Given the description of an element on the screen output the (x, y) to click on. 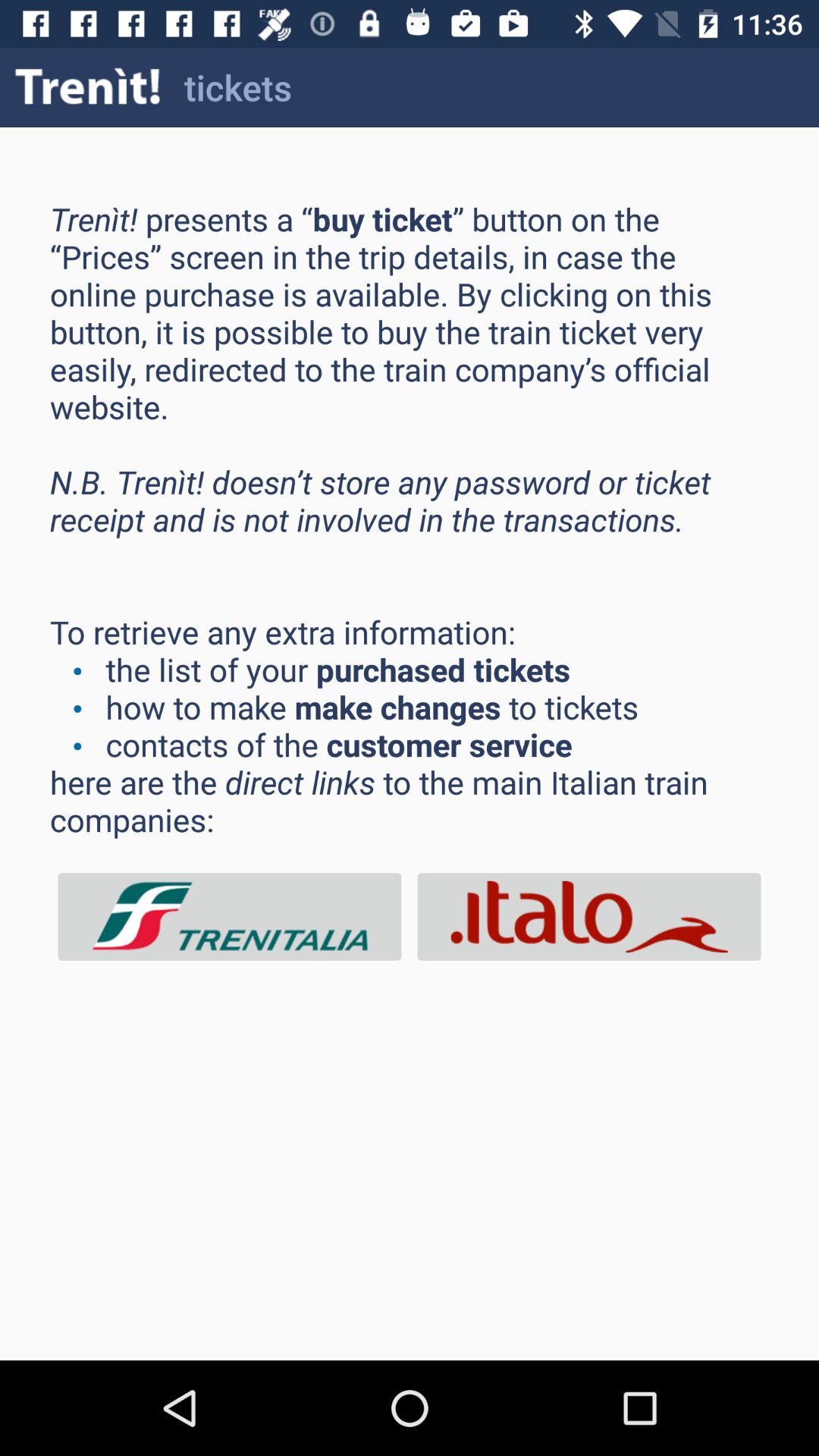
hyperlink button (229, 916)
